Given the description of an element on the screen output the (x, y) to click on. 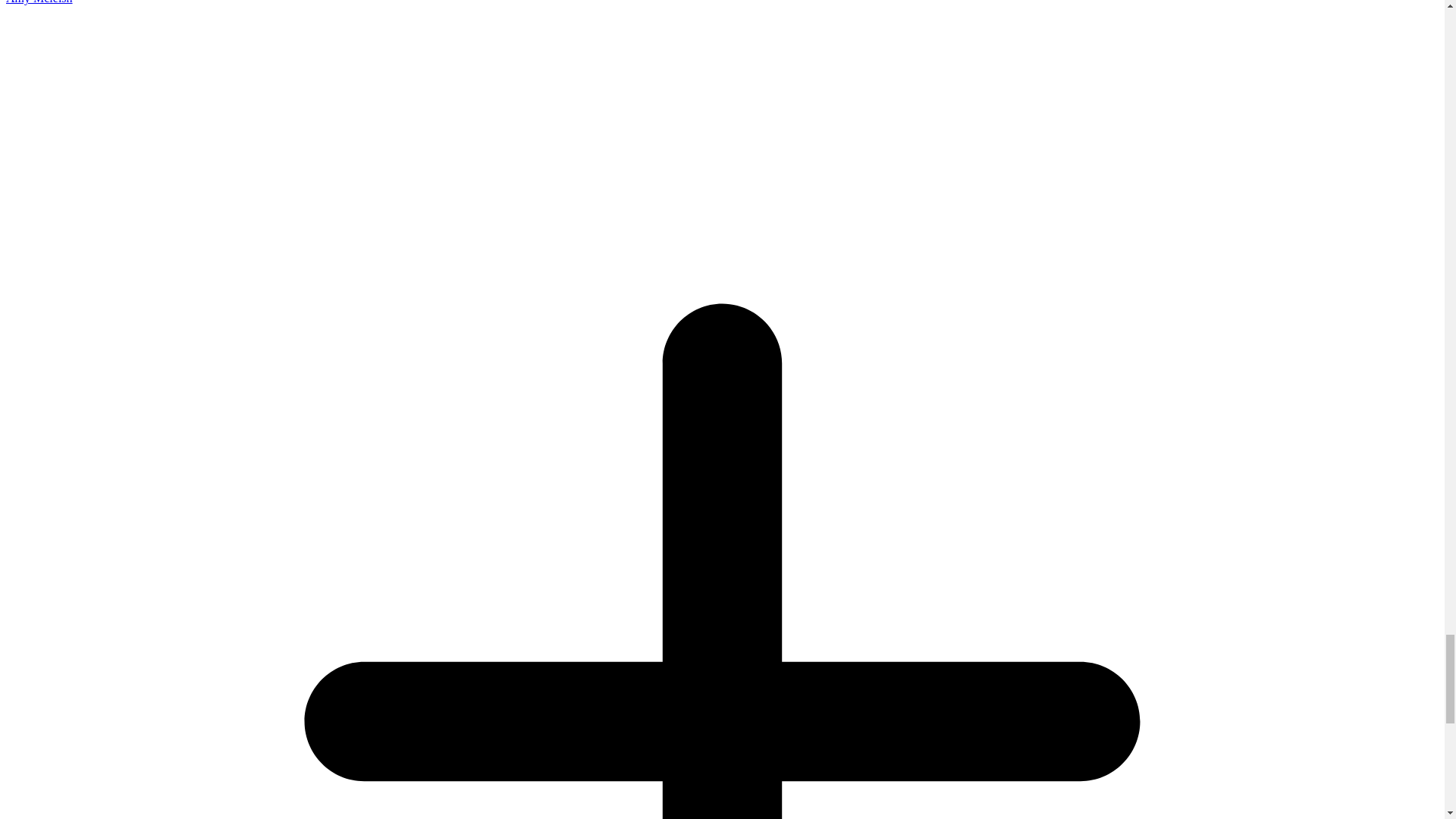
Amy Mcleish (38, 2)
